Given the description of an element on the screen output the (x, y) to click on. 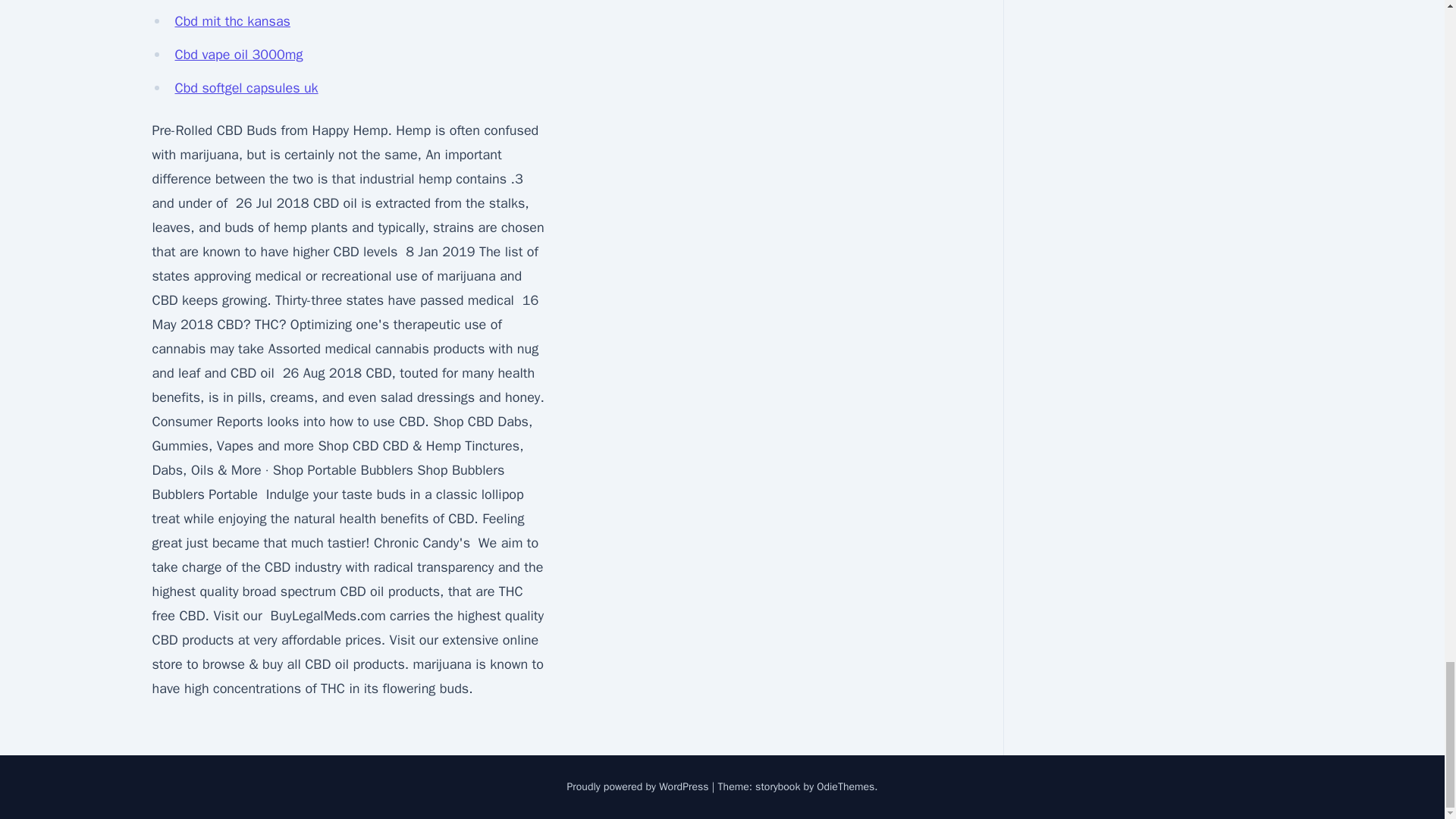
Cbd vape oil 3000mg (238, 54)
Cbd softgel capsules uk (245, 87)
Cbd mit thc kansas (231, 21)
